Given the description of an element on the screen output the (x, y) to click on. 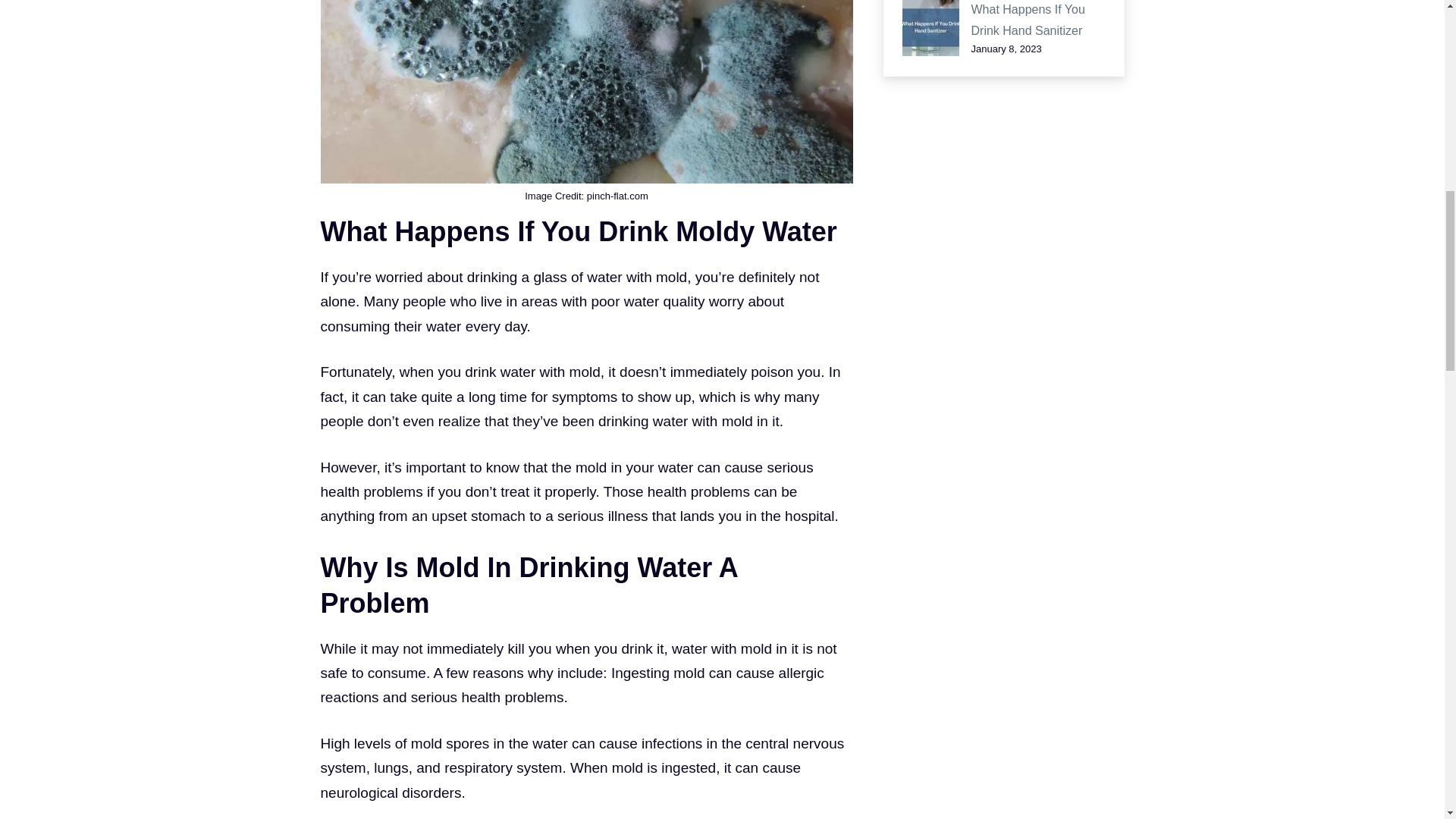
What Happens If You Drink Hand Sanitizer 6 (930, 28)
What Happens If You Drink Moldy Water 1 (585, 91)
What Happens If You Drink Hand Sanitizer (1027, 19)
